Given the description of an element on the screen output the (x, y) to click on. 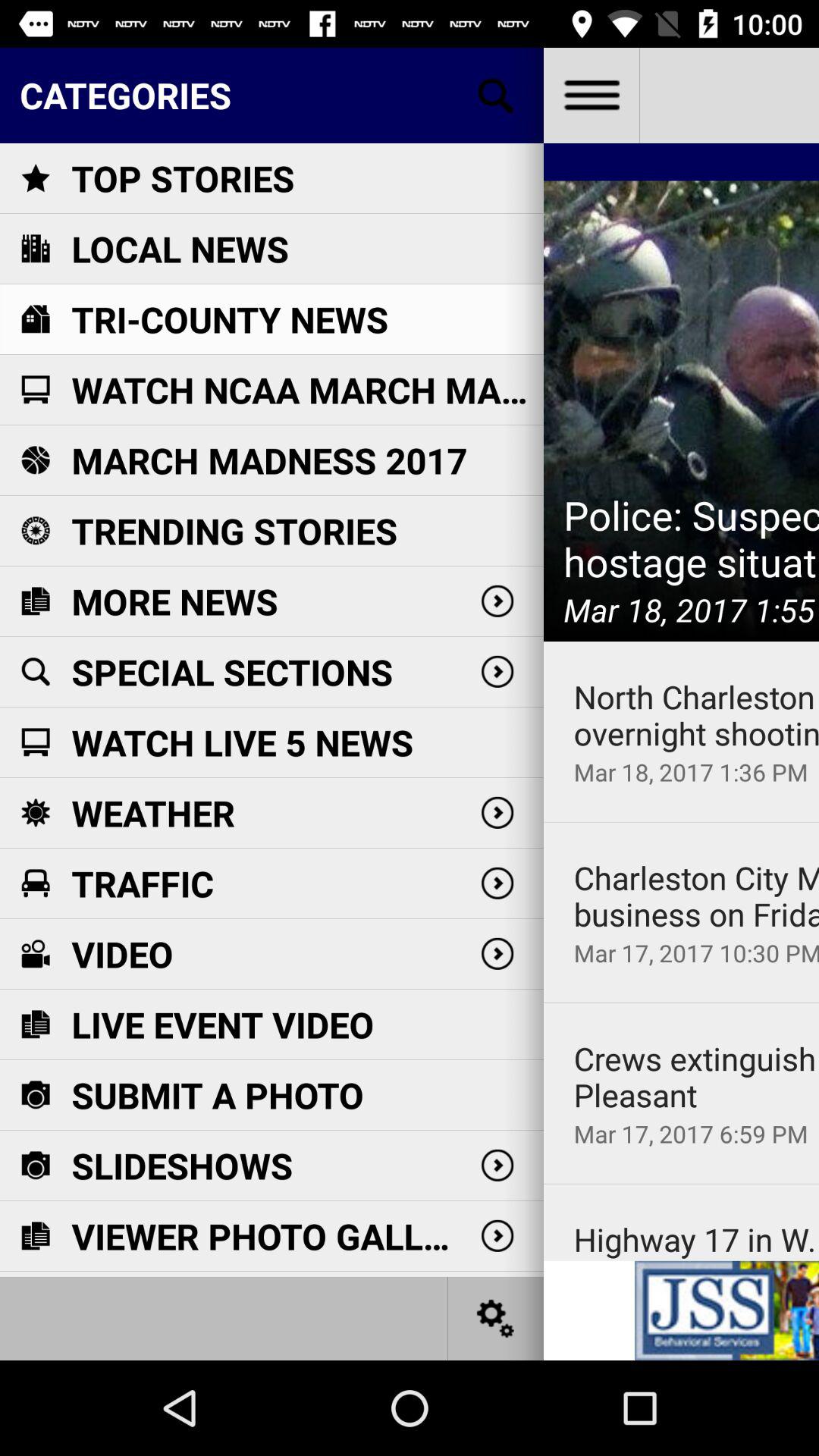
select the icon below more news item (232, 671)
